Given the description of an element on the screen output the (x, y) to click on. 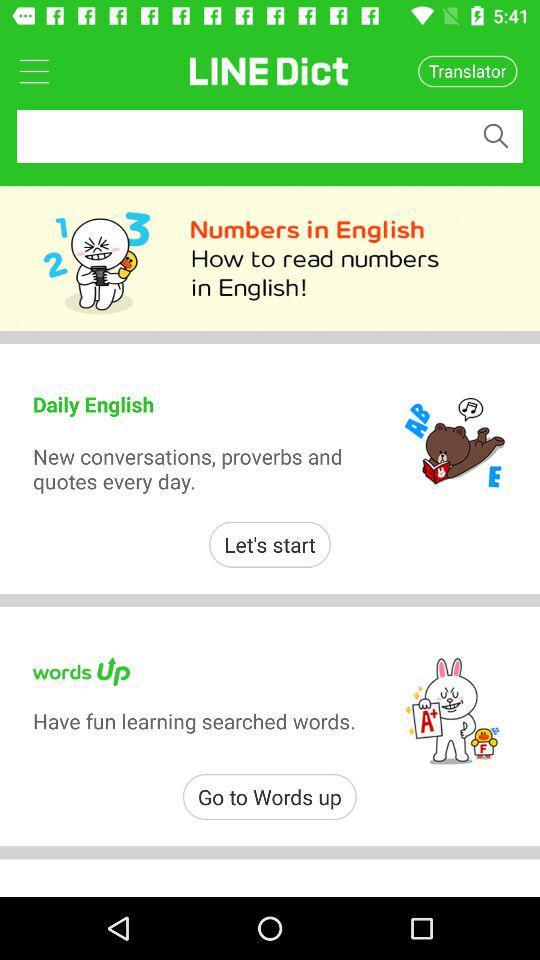
213 numbers in english how to read numbers in engligh (270, 258)
